Given the description of an element on the screen output the (x, y) to click on. 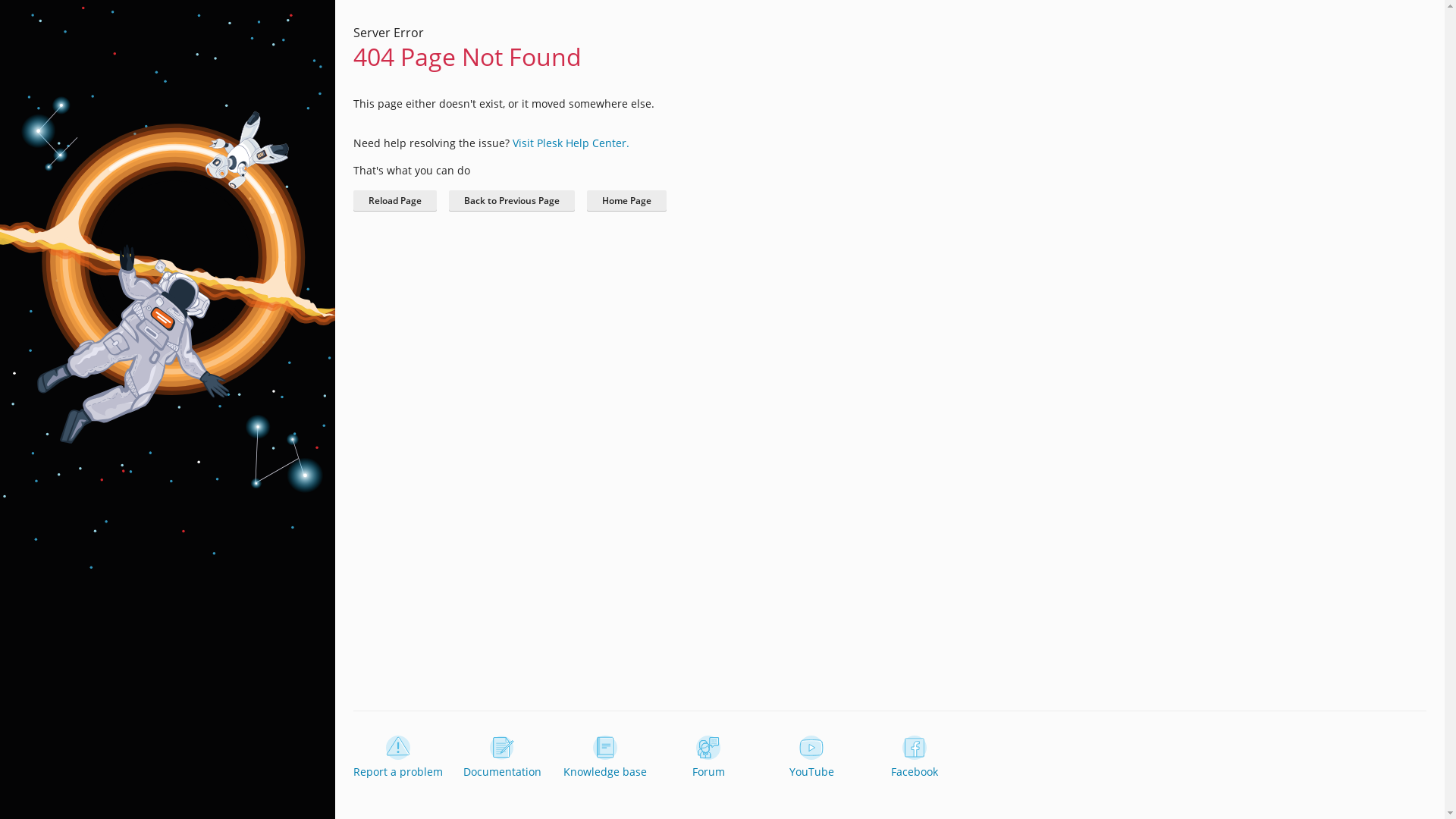
Reload Page Element type: text (394, 200)
Documentation Element type: text (502, 757)
Report a problem Element type: text (397, 757)
Home Page Element type: text (626, 200)
Back to Previous Page Element type: text (511, 200)
YouTube Element type: text (811, 757)
Forum Element type: text (708, 757)
Visit Plesk Help Center. Element type: text (570, 142)
Facebook Element type: text (914, 757)
Knowledge base Element type: text (605, 757)
